Given the description of an element on the screen output the (x, y) to click on. 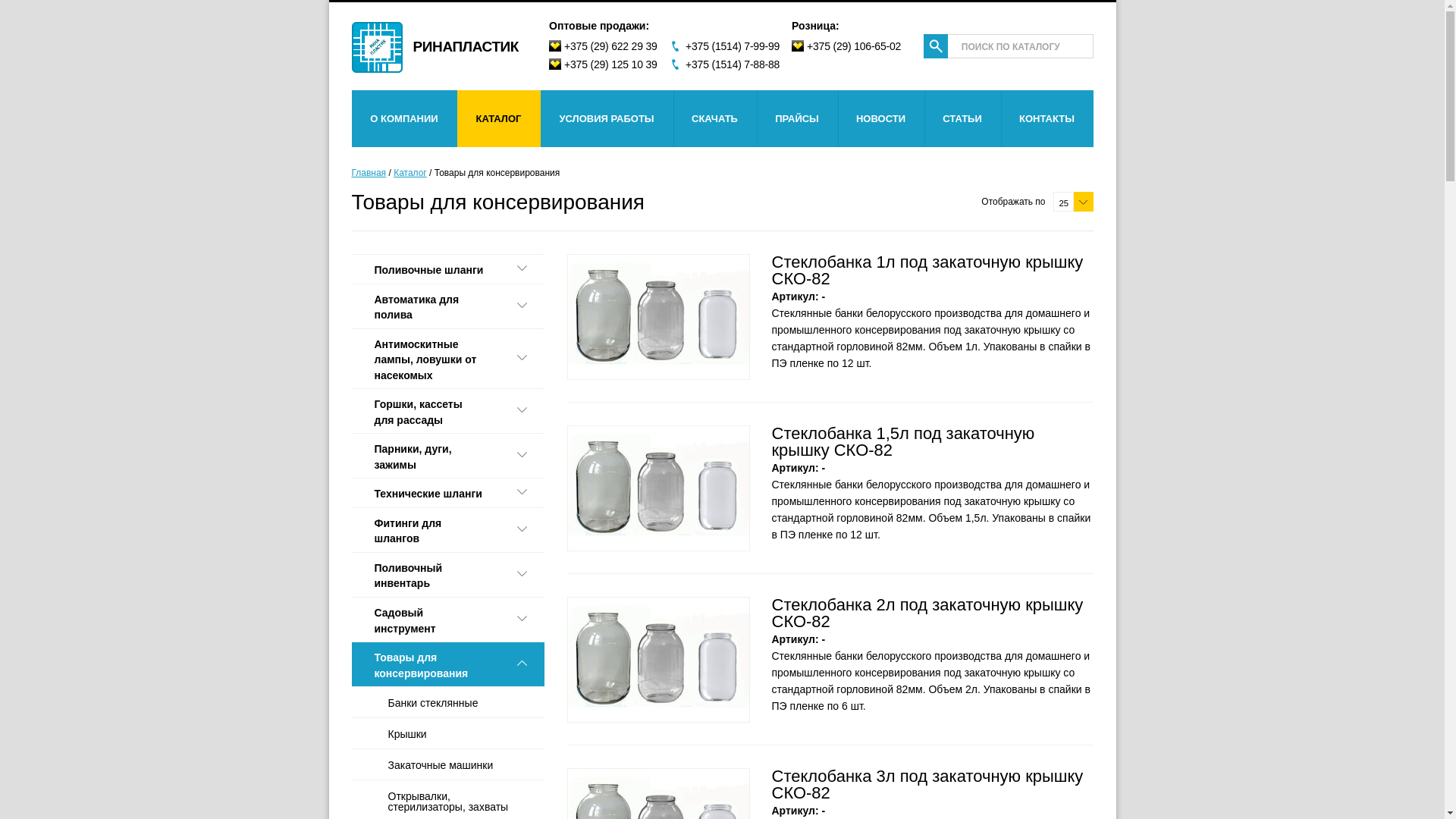
+375 (29) 106-65-02 Element type: text (852, 46)
